Given the description of an element on the screen output the (x, y) to click on. 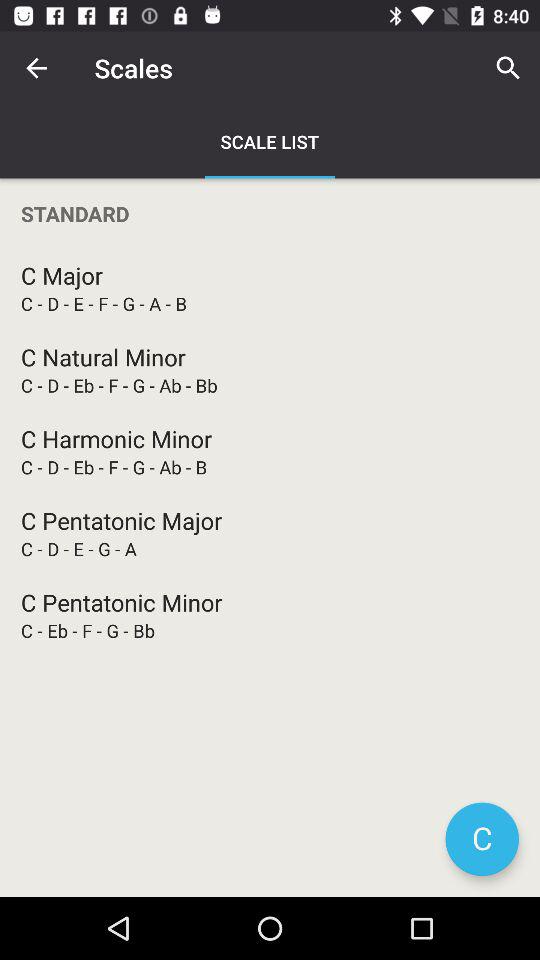
tap the icon at the top right corner (508, 67)
